Given the description of an element on the screen output the (x, y) to click on. 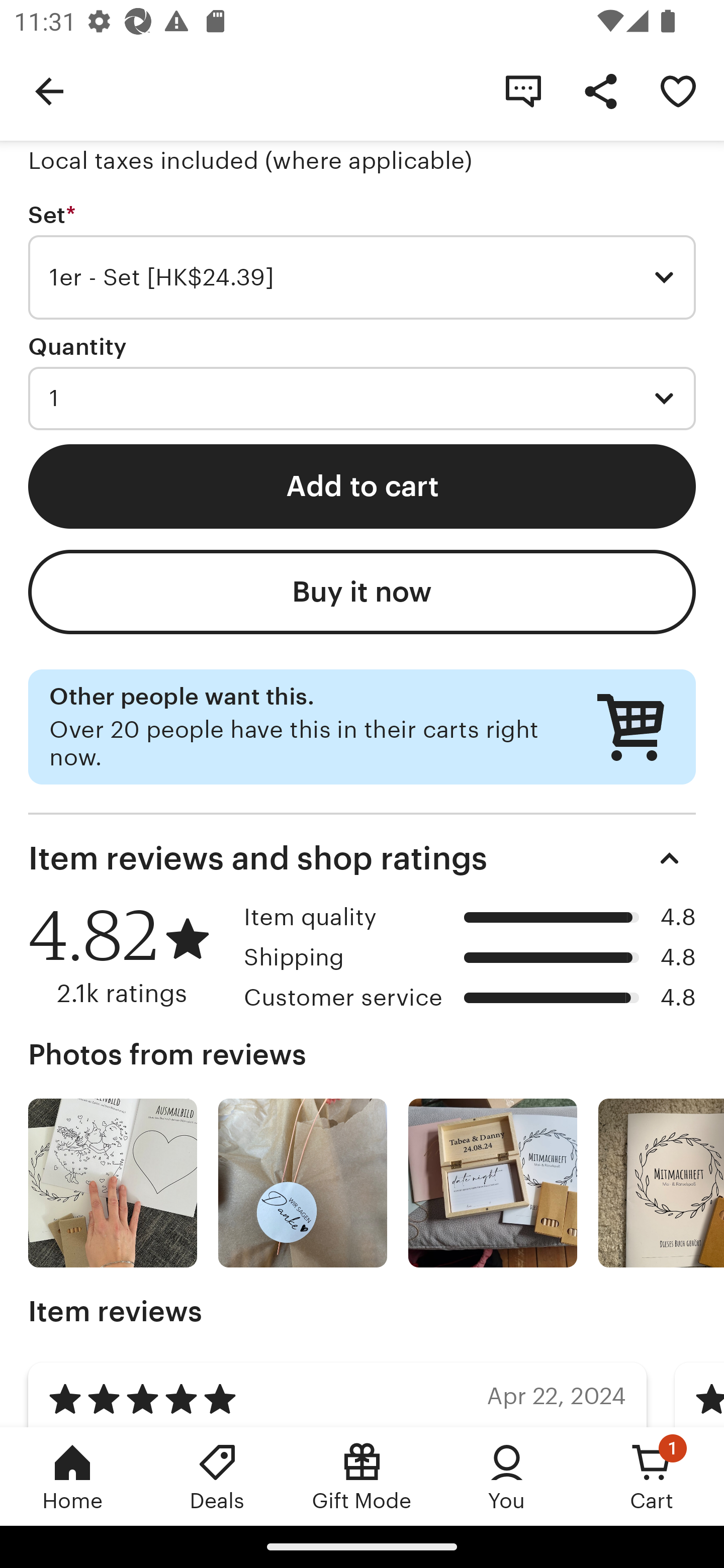
Navigate up (49, 90)
Contact shop (523, 90)
Share (600, 90)
Set * Required 1er - Set [HK$24.39] (361, 260)
1er - Set [HK$24.39] (361, 277)
Quantity (77, 346)
1 (361, 397)
Add to cart (361, 485)
Buy it now (361, 591)
Item reviews and shop ratings (362, 858)
4.82 2.1k ratings (128, 956)
Photo from review (112, 1182)
Photo from review (302, 1182)
Photo from review (492, 1182)
Photo from review (661, 1182)
Deals (216, 1475)
Gift Mode (361, 1475)
You (506, 1475)
Cart, 1 new notification Cart (651, 1475)
